Given the description of an element on the screen output the (x, y) to click on. 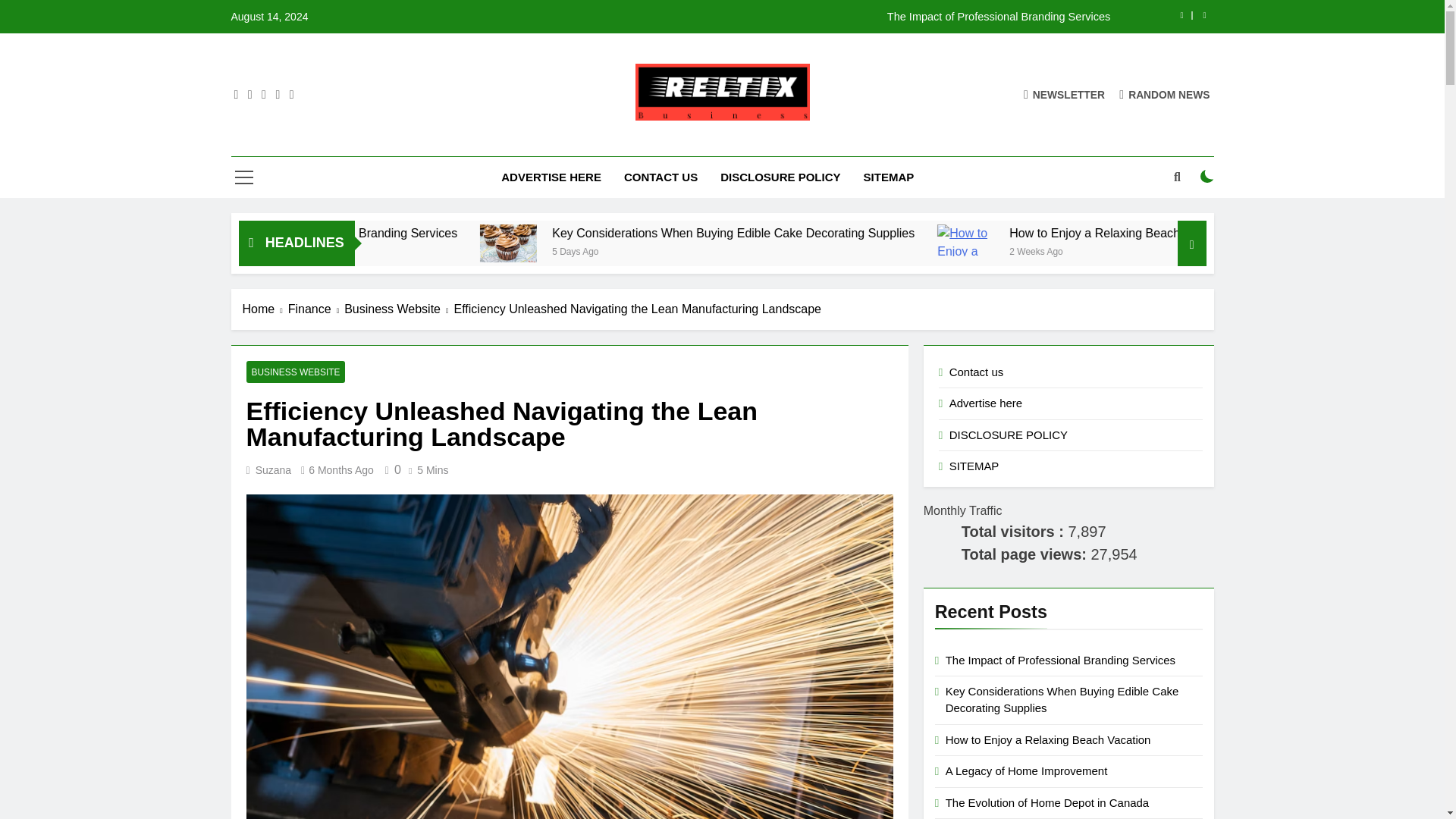
ADVERTISE HERE (550, 177)
on (1206, 176)
The Impact of Professional Branding Services (503, 233)
5 Days Ago (736, 250)
4 Days Ago (401, 250)
How to Enjoy a Relaxing Beach Vacation (1277, 233)
RANDOM NEWS (1164, 93)
DISCLOSURE POLICY (780, 177)
